Given the description of an element on the screen output the (x, y) to click on. 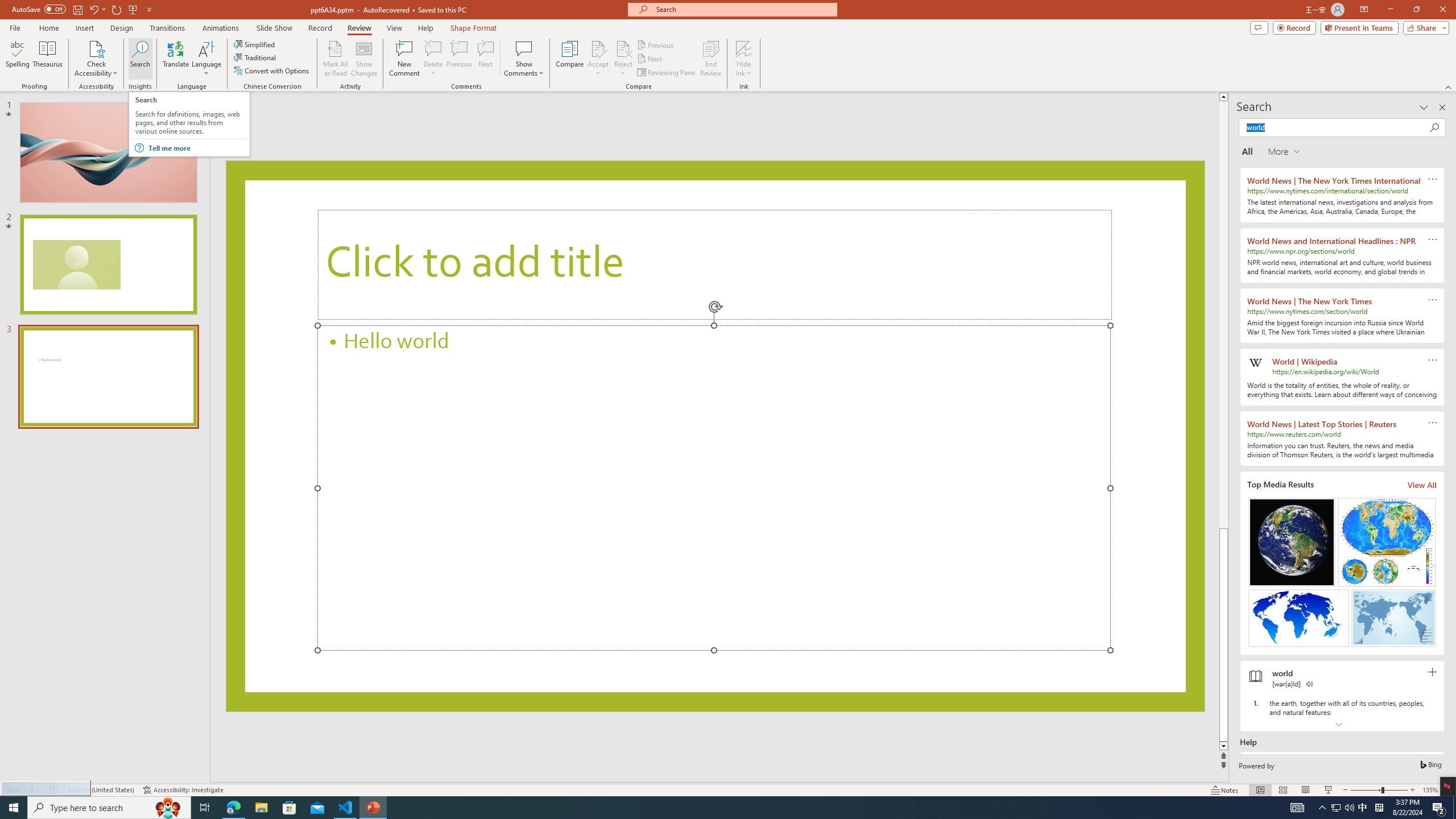
Shape Format (473, 28)
Reject (622, 58)
